Given the description of an element on the screen output the (x, y) to click on. 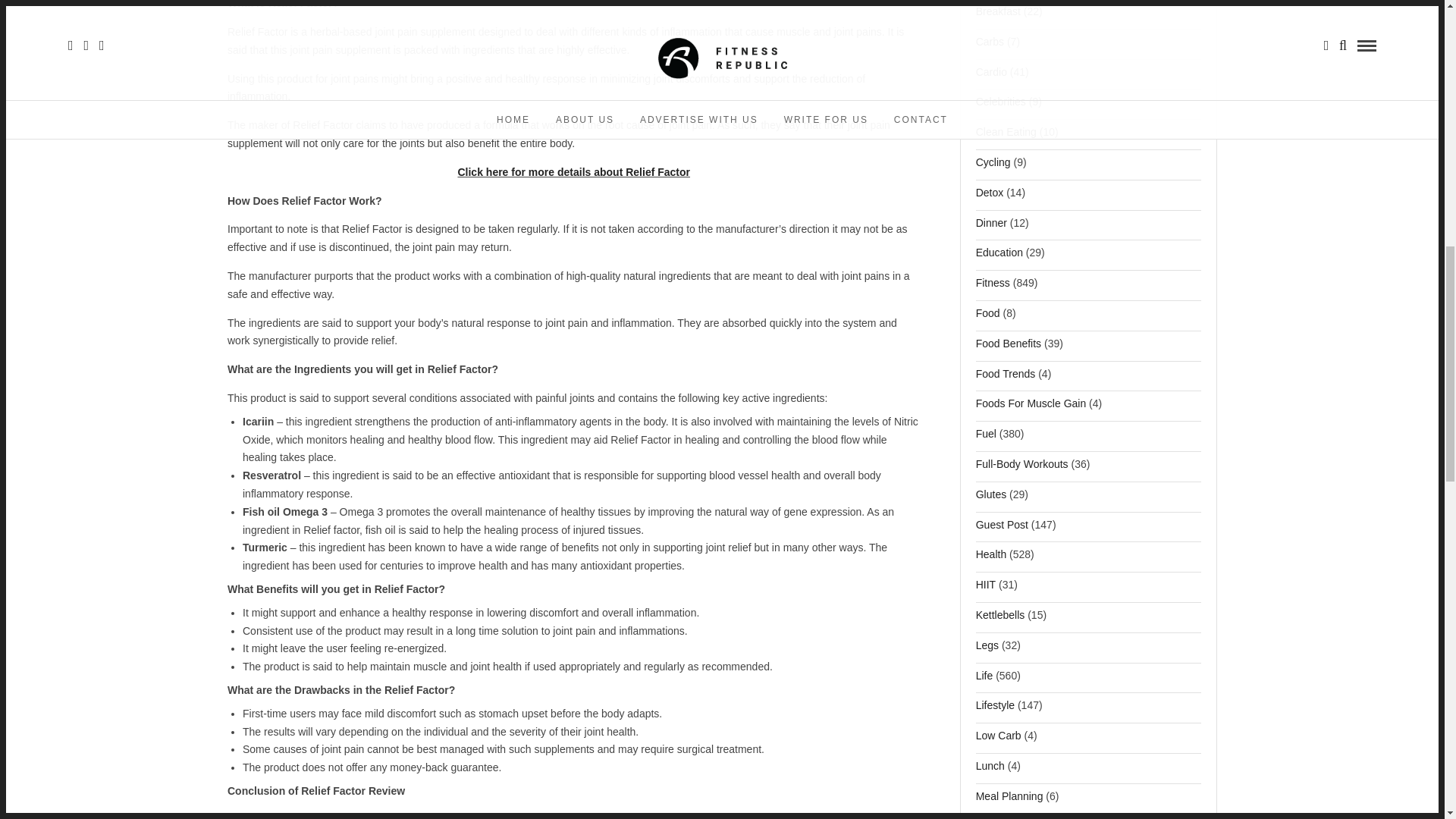
Cardio (991, 76)
Click here for more details about Relief Factor (573, 172)
Breakfast (997, 15)
Celebrities (1000, 105)
Carbs (989, 45)
